Given the description of an element on the screen output the (x, y) to click on. 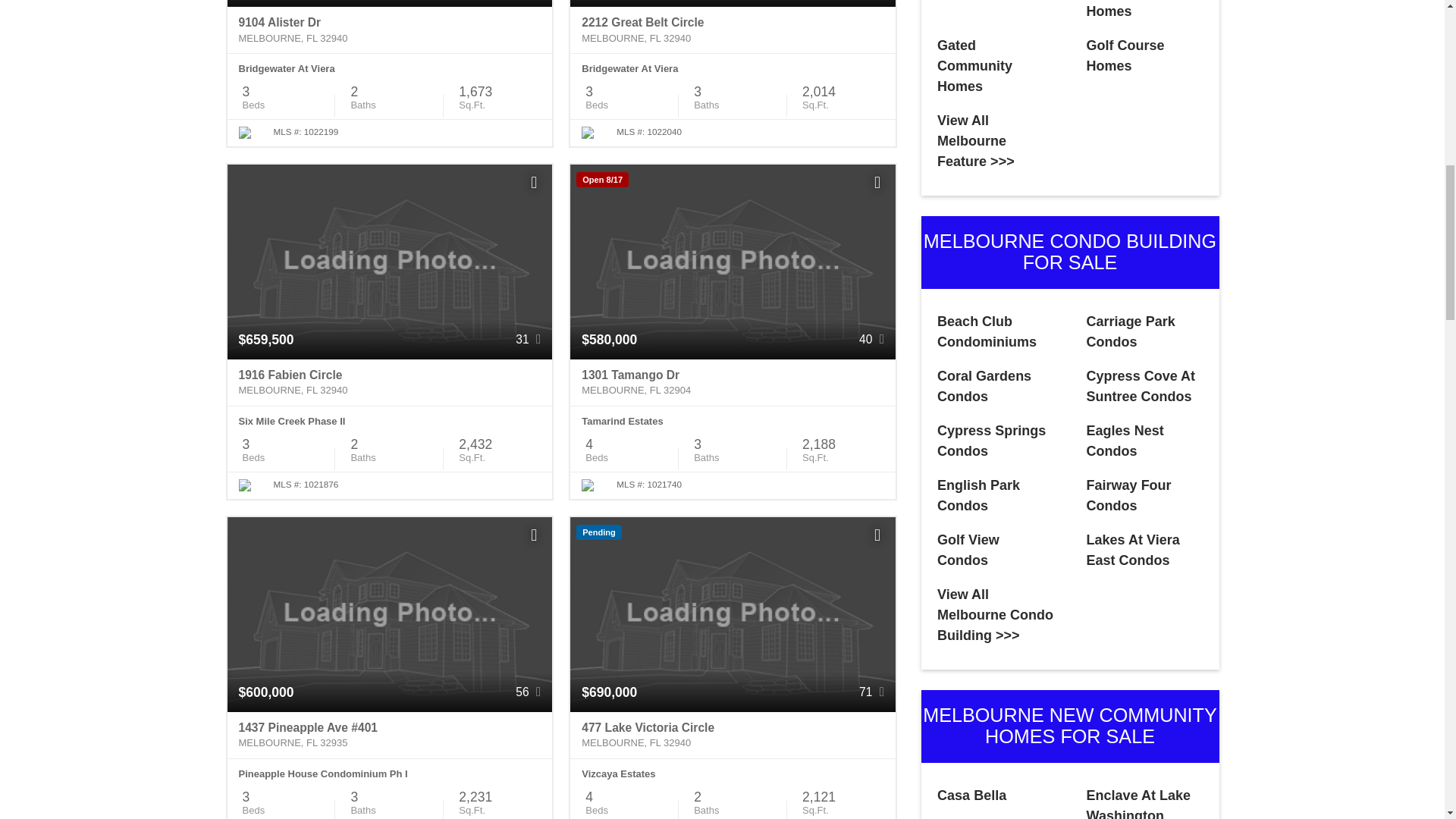
2212 Great Belt Circle Melbourne,  FL 32940 (732, 30)
1301 Tamango Dr Melbourne,  FL 32904 (732, 382)
1916 Fabien Circle Melbourne,  FL 32940 (390, 382)
9104 Alister Dr Melbourne,  FL 32940 (390, 30)
